Given the description of an element on the screen output the (x, y) to click on. 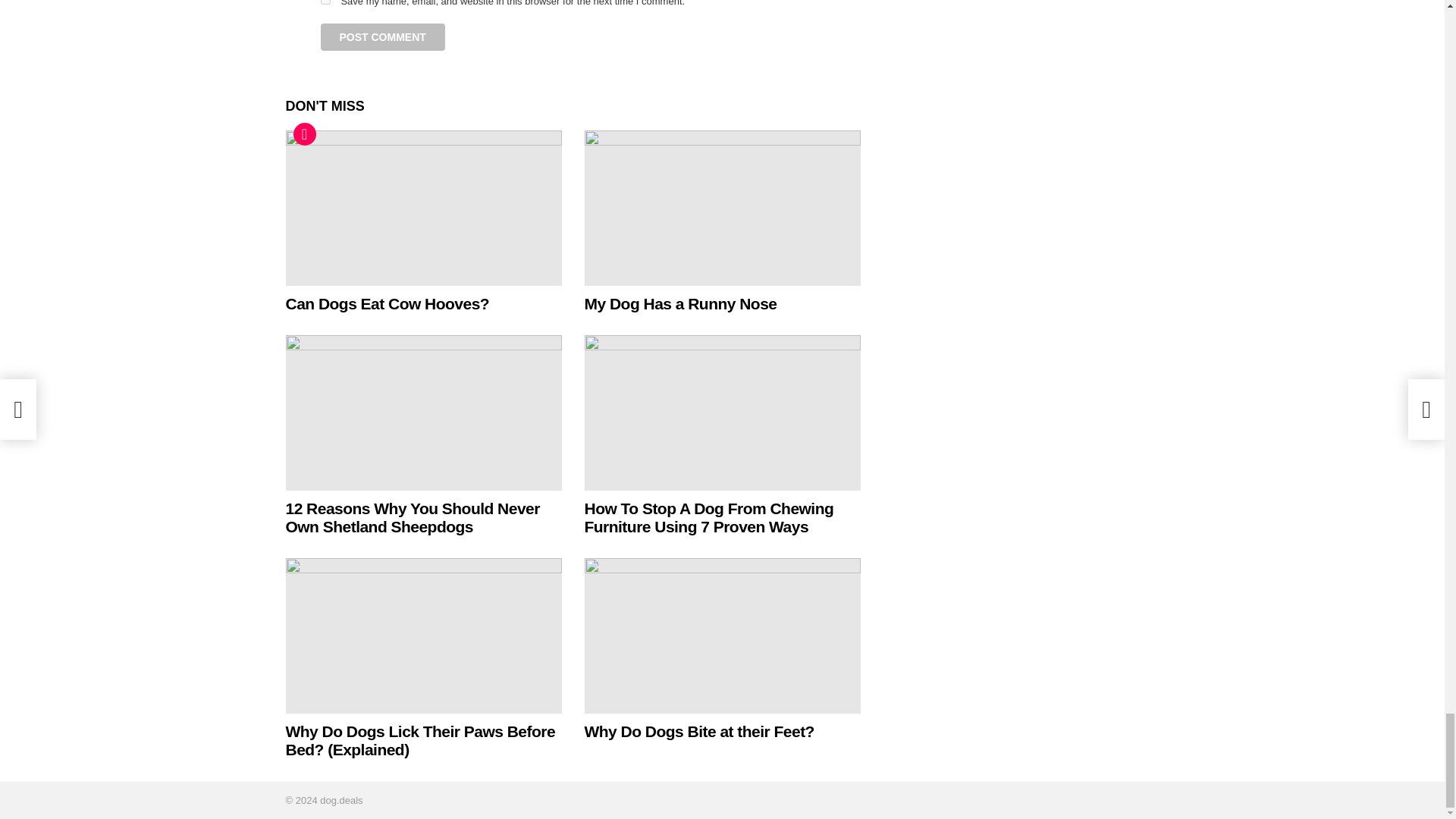
yes (325, 2)
Post Comment (382, 36)
